Given the description of an element on the screen output the (x, y) to click on. 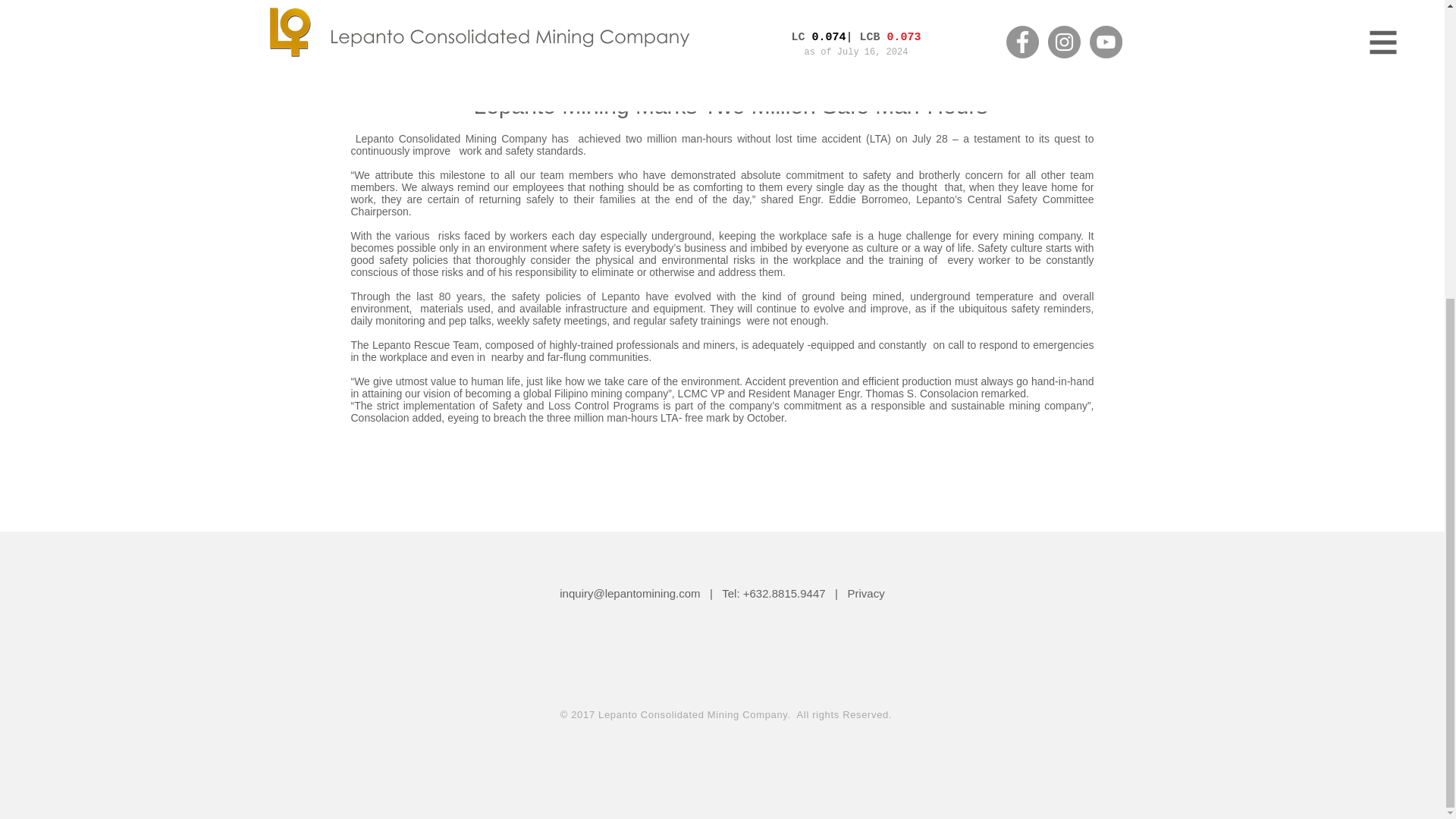
Privacy (866, 593)
